Given the description of an element on the screen output the (x, y) to click on. 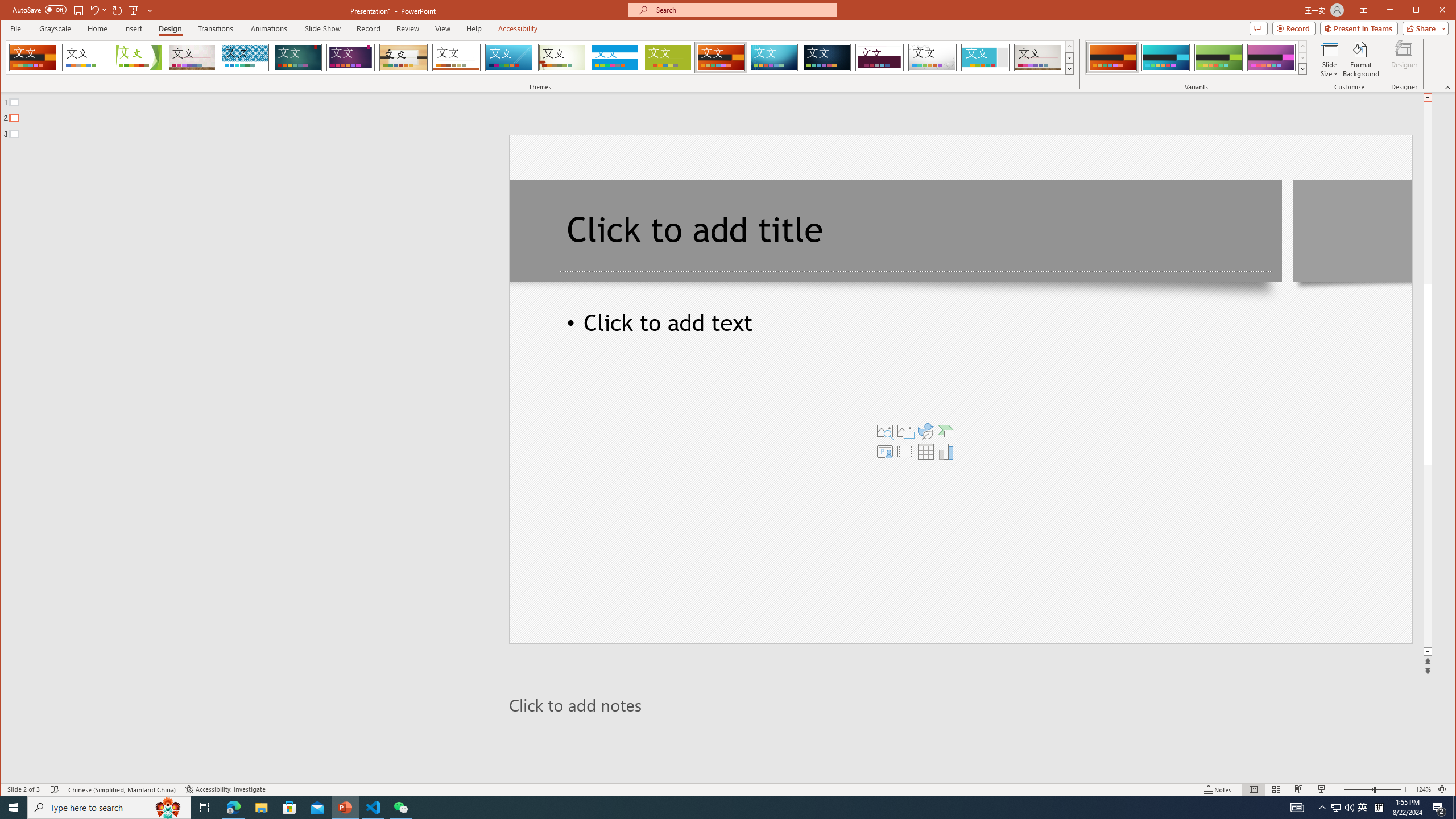
Banded (615, 57)
